Given the description of an element on the screen output the (x, y) to click on. 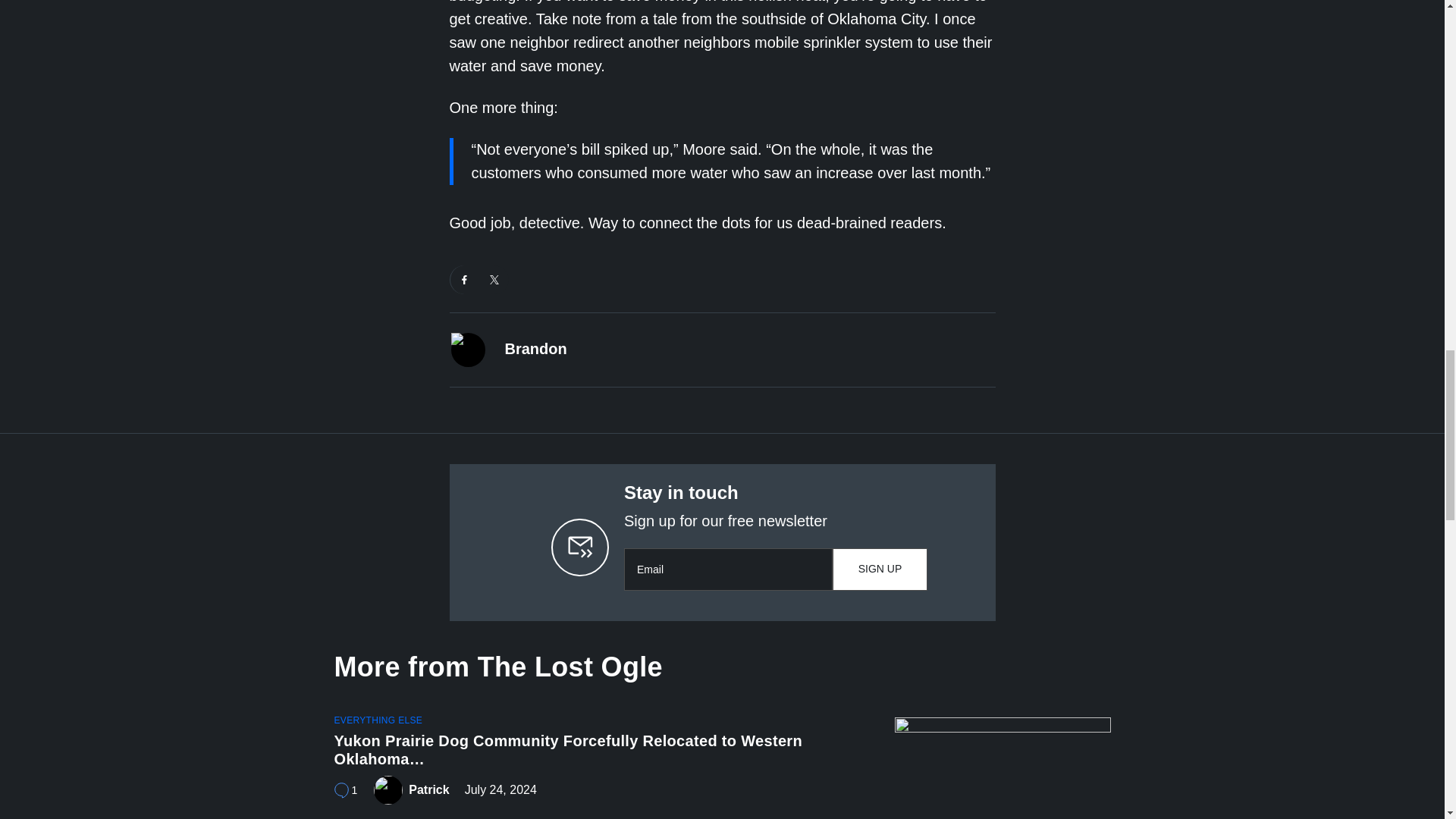
Share on Facebook (464, 279)
Brandon (536, 349)
SIGN UP (879, 568)
Patrick (428, 790)
EVERYTHING ELSE (344, 790)
